Given the description of an element on the screen output the (x, y) to click on. 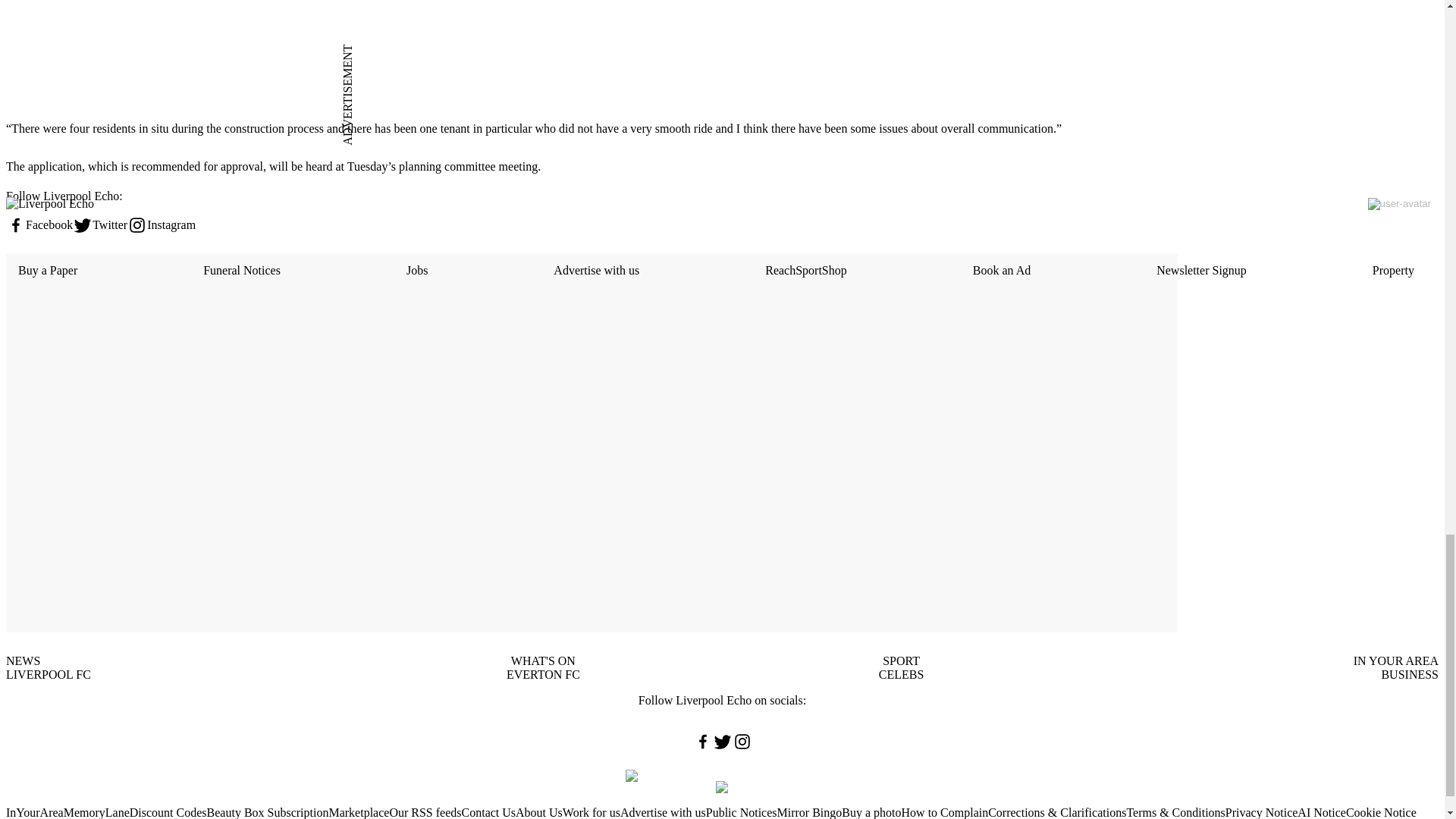
Facebook (38, 225)
Twitter (100, 225)
Instagram (161, 225)
